Given the description of an element on the screen output the (x, y) to click on. 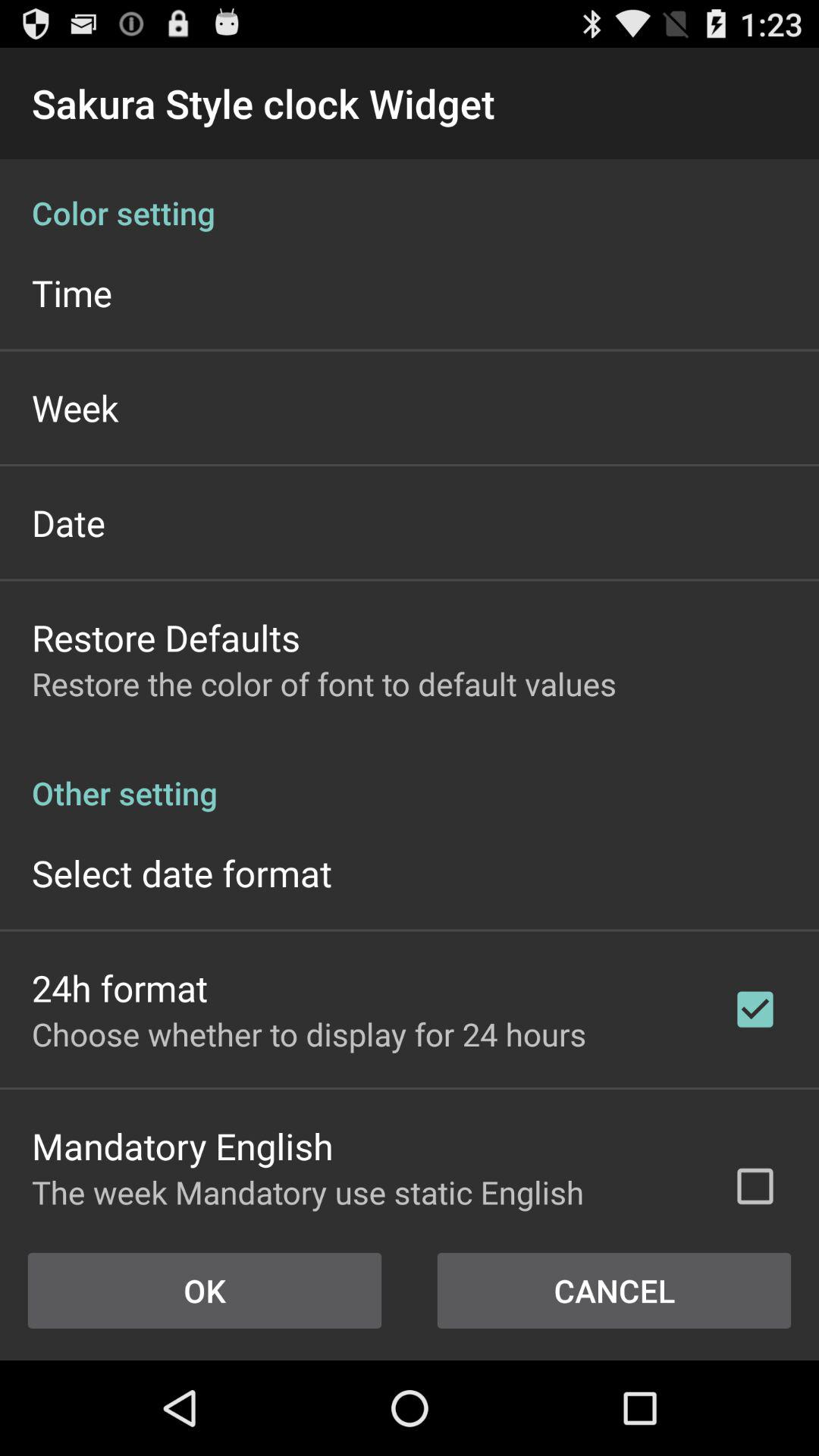
launch choose whether to icon (308, 1033)
